Given the description of an element on the screen output the (x, y) to click on. 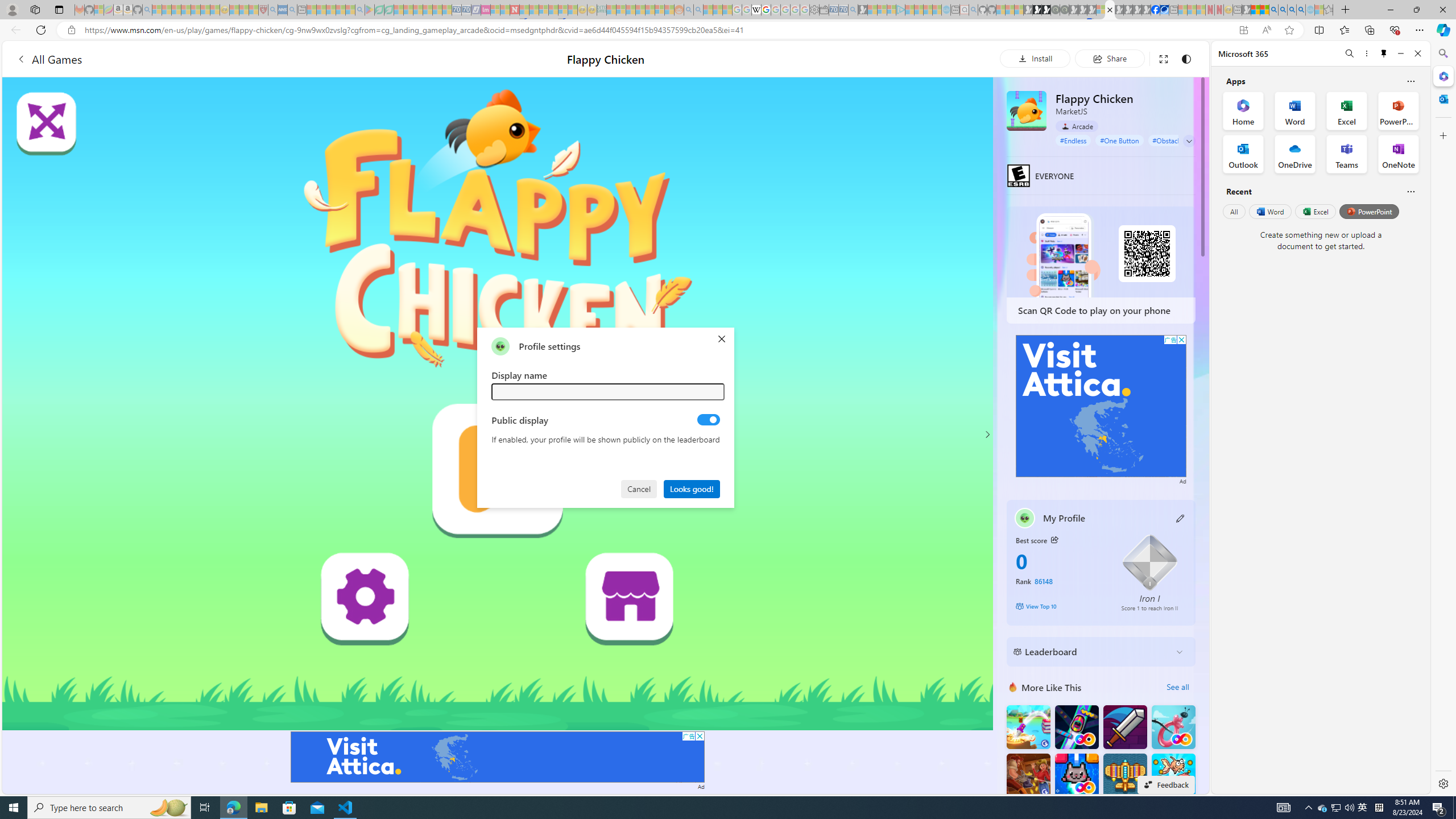
New tab - Sleeping (1236, 9)
App available. Install Flappy Chicken (1243, 29)
Flappy Chicken (1026, 110)
EVERYONE (1018, 175)
AirNow.gov (1163, 9)
Microsoft Start Gaming - Sleeping (862, 9)
OneDrive Office App (1295, 154)
Close Customize pane (1442, 135)
Balloon FRVR (1173, 726)
